Given the description of an element on the screen output the (x, y) to click on. 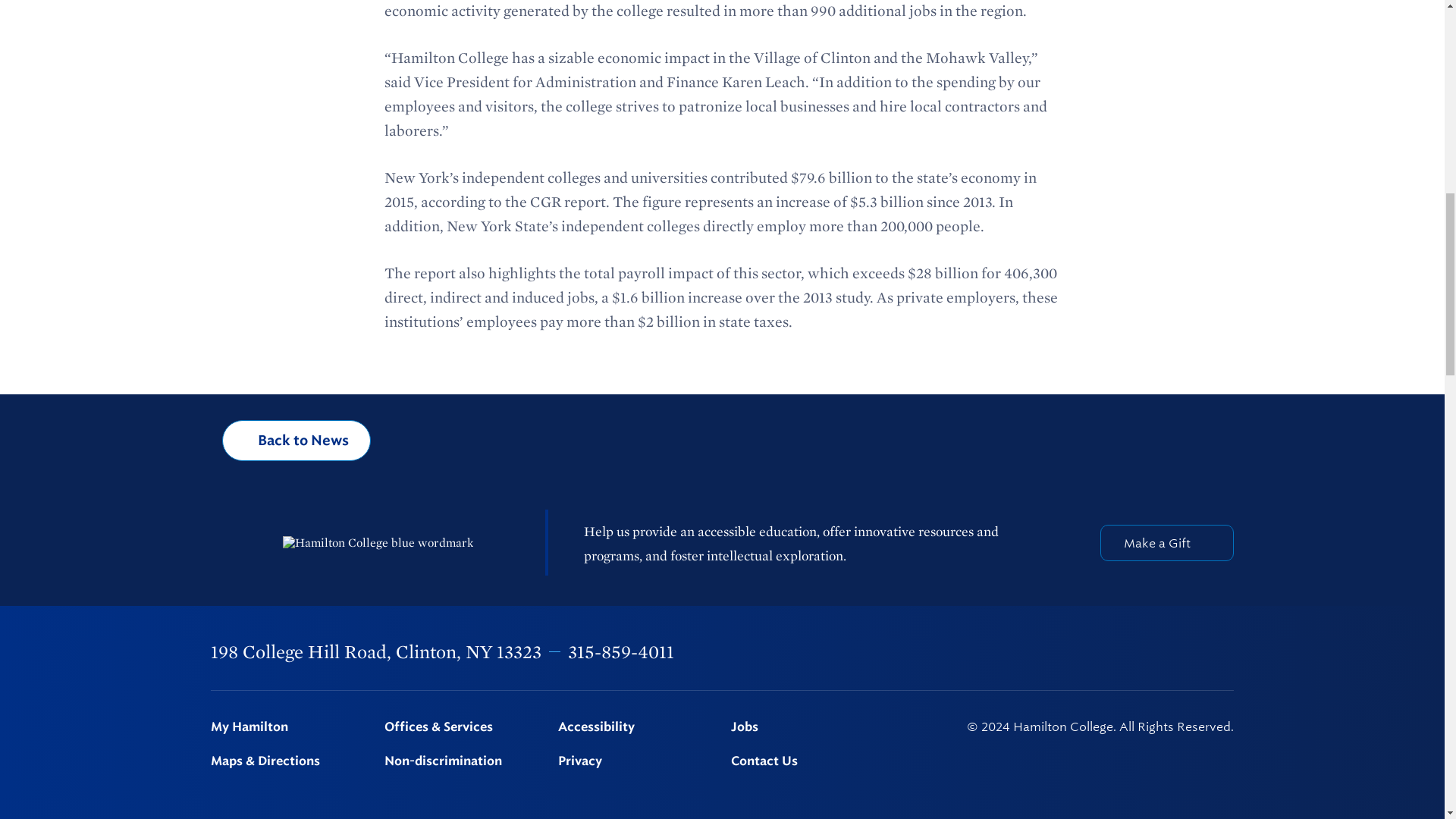
198 College Hill Road, Clinton, NY 13323 (375, 651)
TikTok (1226, 652)
315-859-4011 (620, 651)
Make a Gift (1166, 542)
Linkedin (1149, 652)
Youtube (1188, 651)
My Hamilton (288, 727)
Back to News (296, 440)
Twitter (1069, 652)
Facebook (1029, 652)
